Given the description of an element on the screen output the (x, y) to click on. 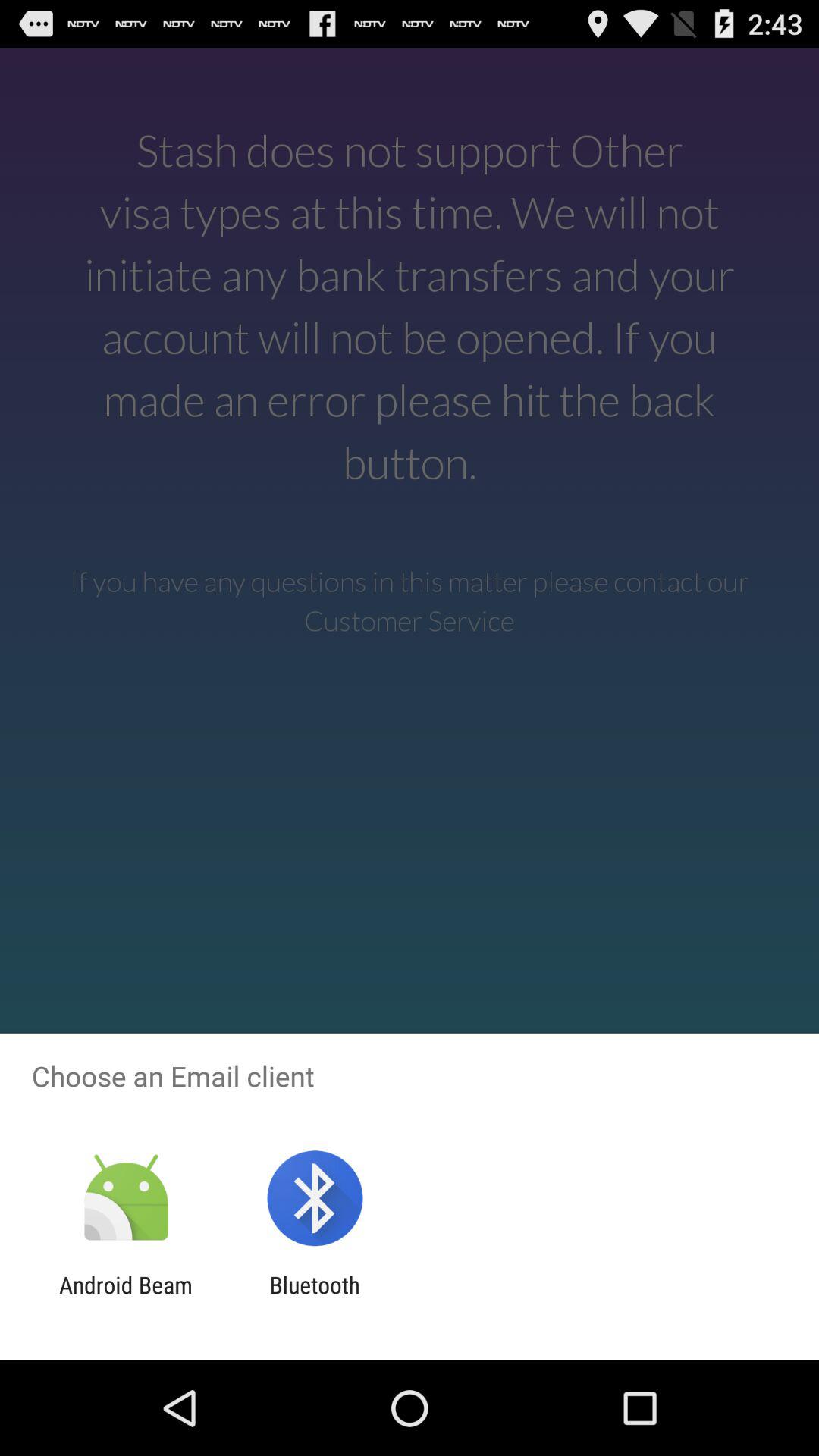
launch the android beam app (125, 1298)
